Given the description of an element on the screen output the (x, y) to click on. 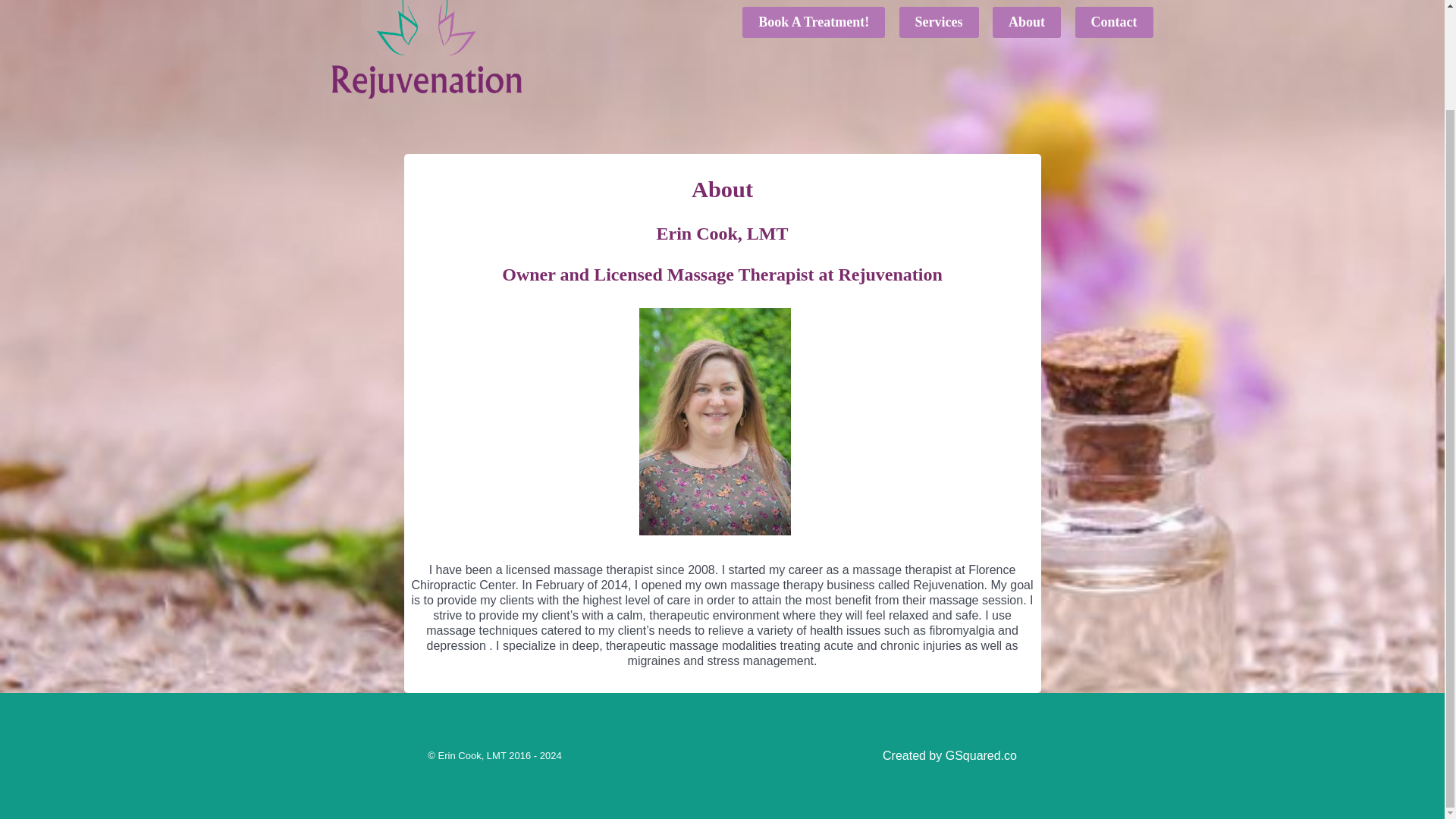
Services (938, 21)
Book A Treatment! (812, 21)
Contact (1112, 21)
About (1026, 21)
